Given the description of an element on the screen output the (x, y) to click on. 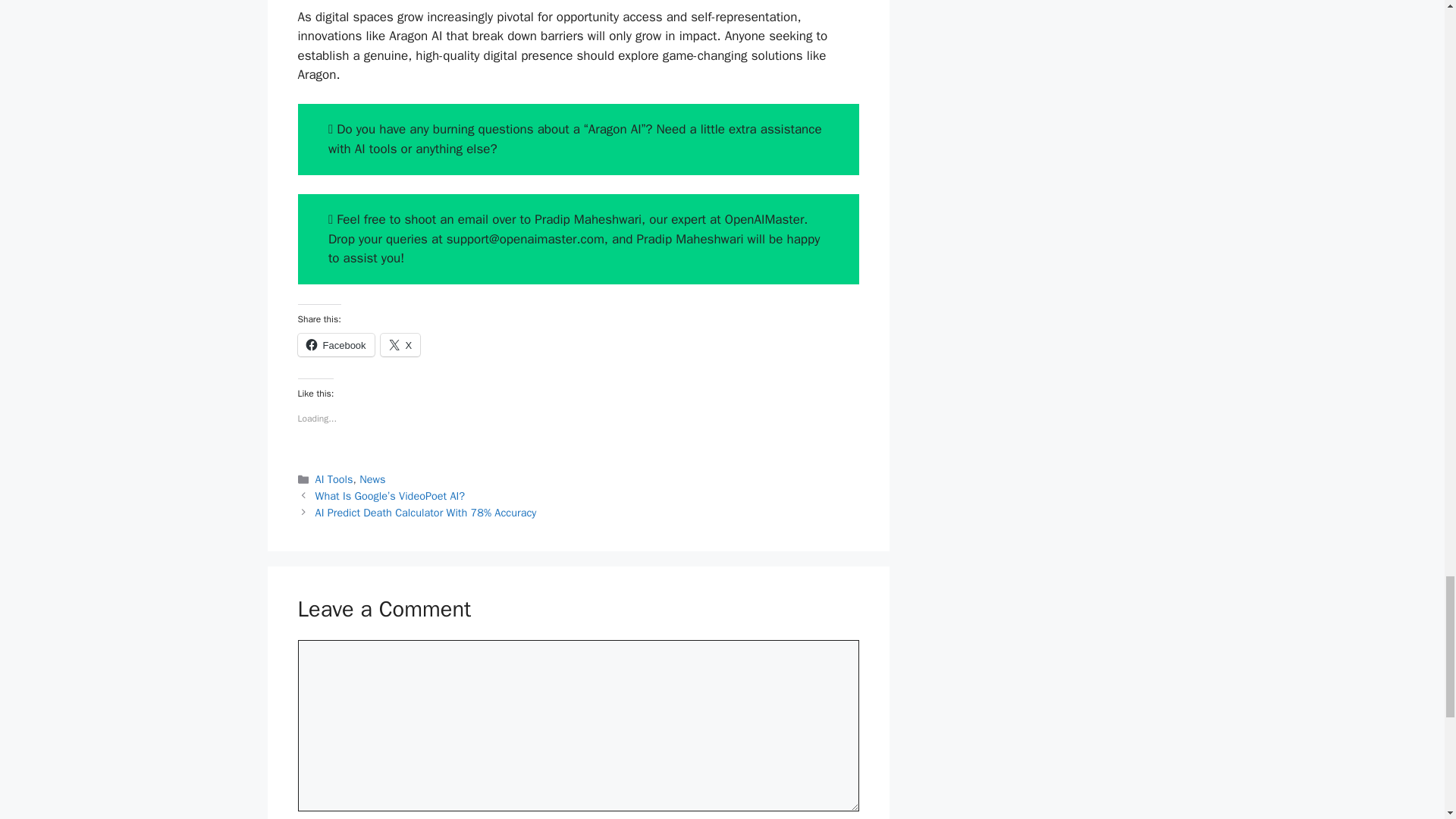
Click to share on Facebook (335, 344)
Facebook (335, 344)
X (400, 344)
Click to share on X (400, 344)
AI Tools (334, 479)
News (372, 479)
